Given the description of an element on the screen output the (x, y) to click on. 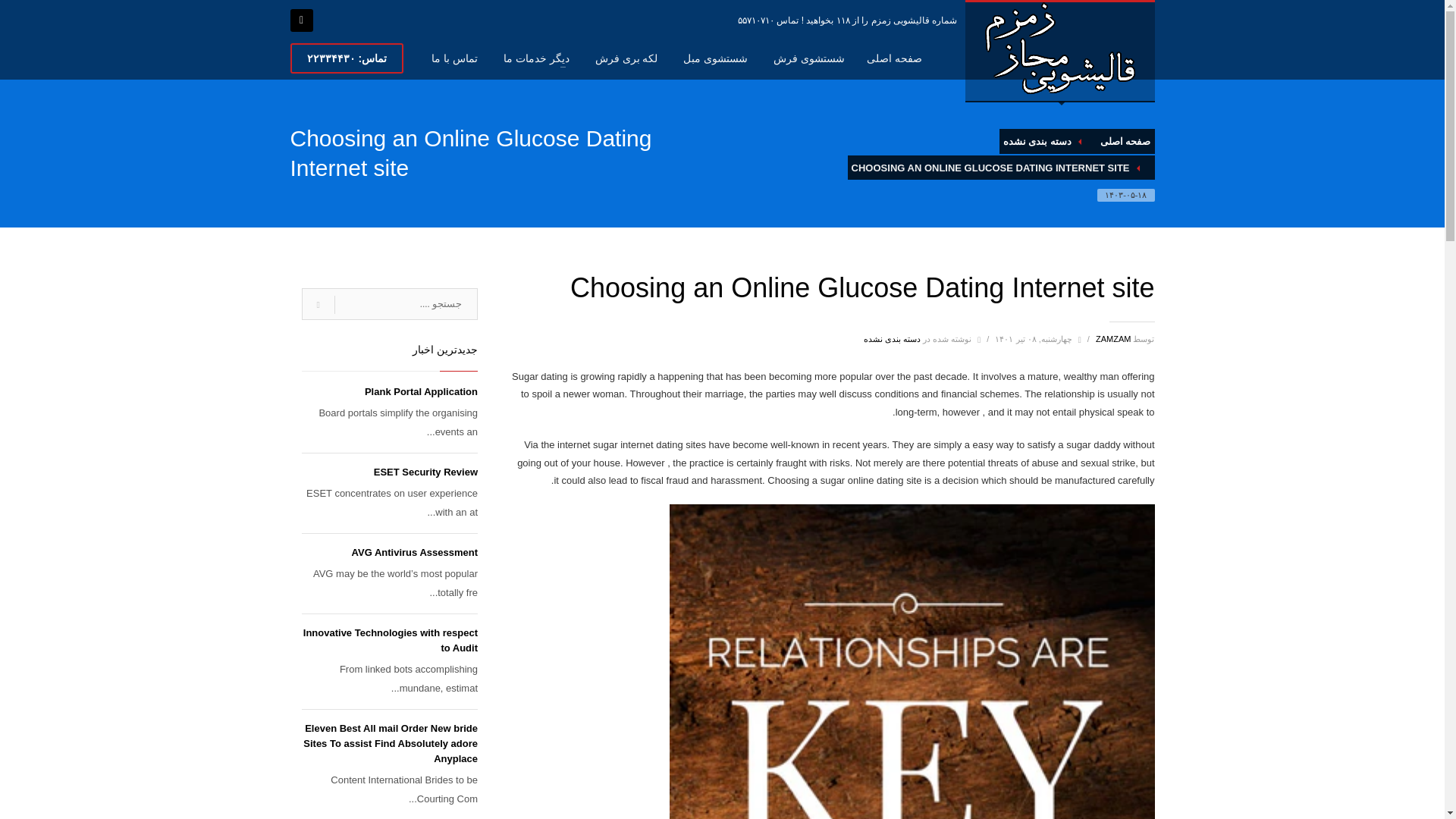
Plank Portal Application (421, 391)
Innovative Technologies with respect to Audit (389, 640)
instagram (301, 20)
AVG Antivirus Assessment (414, 552)
ESET Security Review (425, 471)
Innovative Technologies with respect to Audit (389, 640)
go (317, 305)
AVG Antivirus Assessment (414, 552)
ESET Security Review (425, 471)
ZAMZAM (1112, 338)
Plank Portal Application (421, 391)
